Given the description of an element on the screen output the (x, y) to click on. 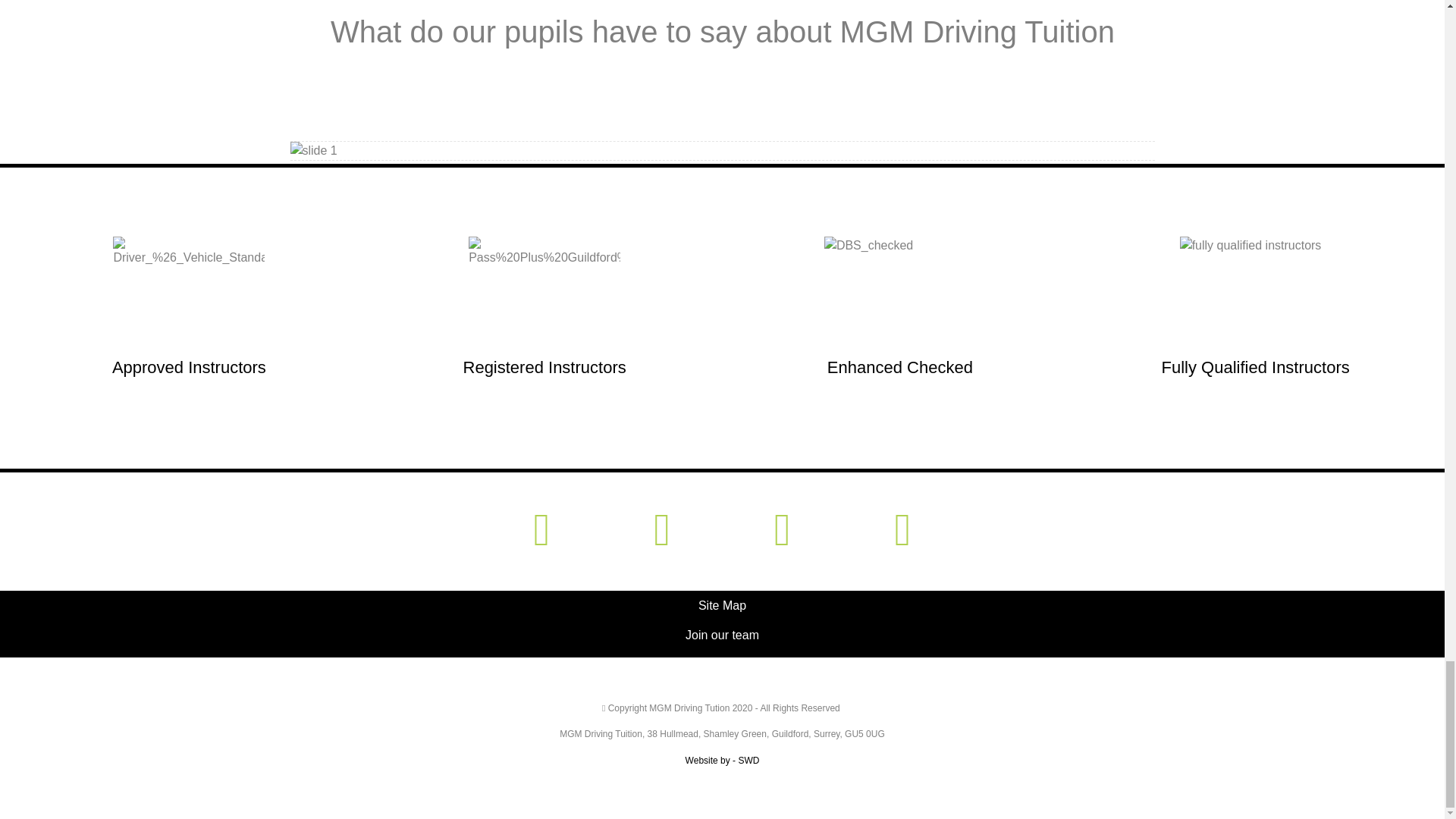
Join our team (721, 634)
Site Map (721, 604)
Previous (354, 150)
Website by - SWD (722, 760)
Next (1089, 150)
